Given the description of an element on the screen output the (x, y) to click on. 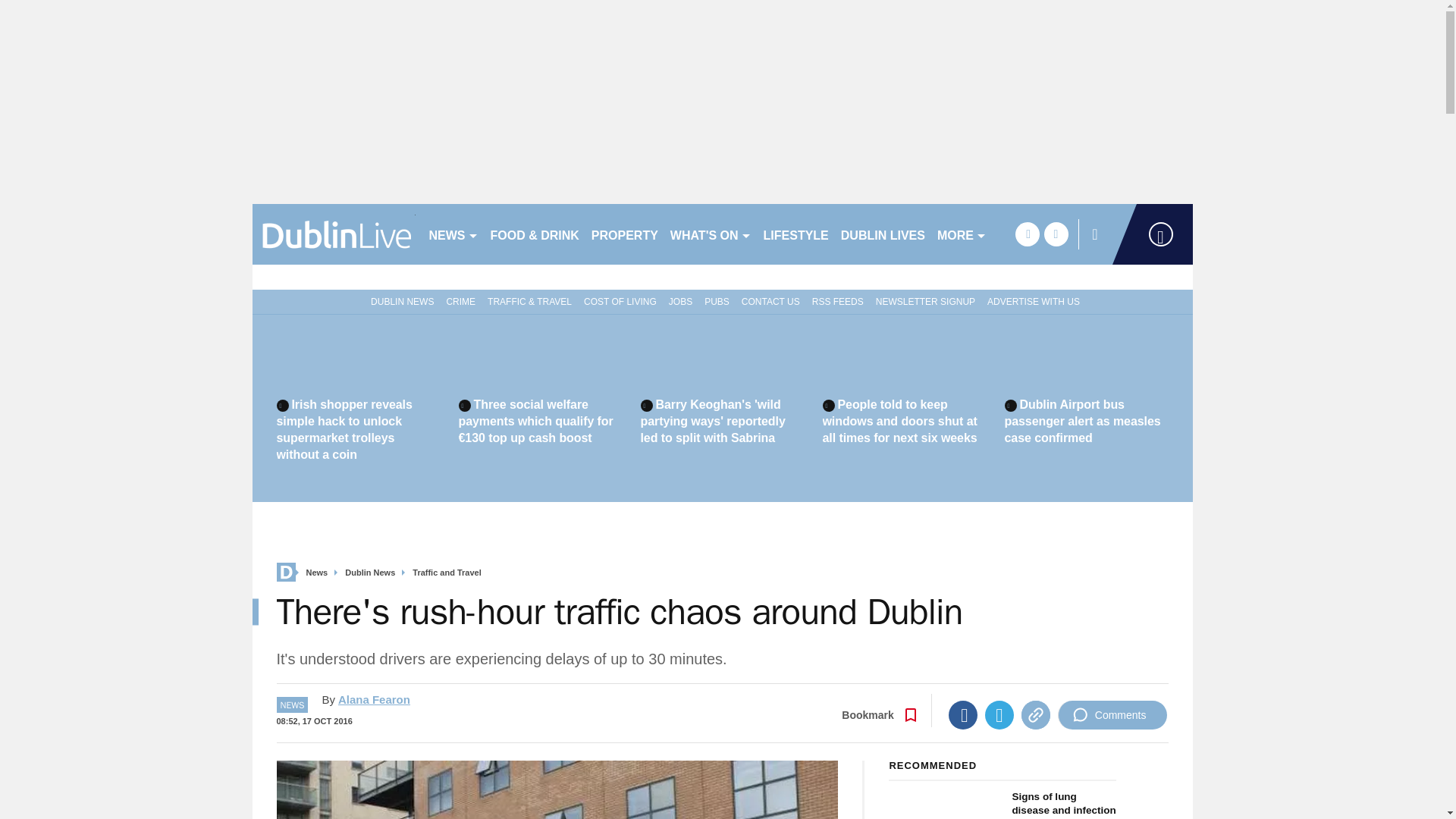
twitter (1055, 233)
LIFESTYLE (795, 233)
facebook (1026, 233)
MORE (961, 233)
Comments (1112, 715)
dublinlive (332, 233)
WHAT'S ON (710, 233)
NEWS (453, 233)
Twitter (999, 715)
DUBLIN LIVES (882, 233)
